Given the description of an element on the screen output the (x, y) to click on. 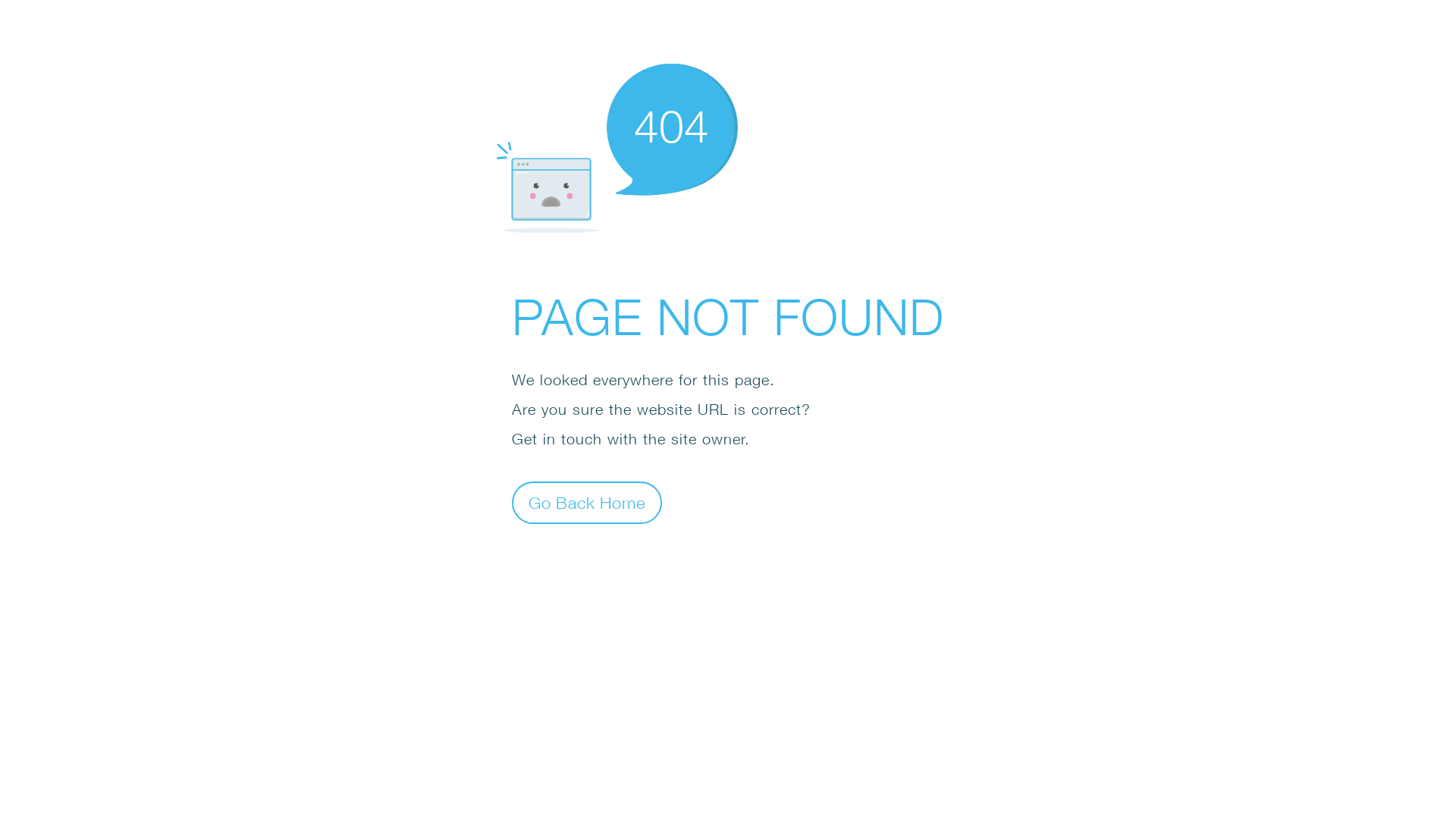
Go Back Home Element type: text (586, 502)
